Given the description of an element on the screen output the (x, y) to click on. 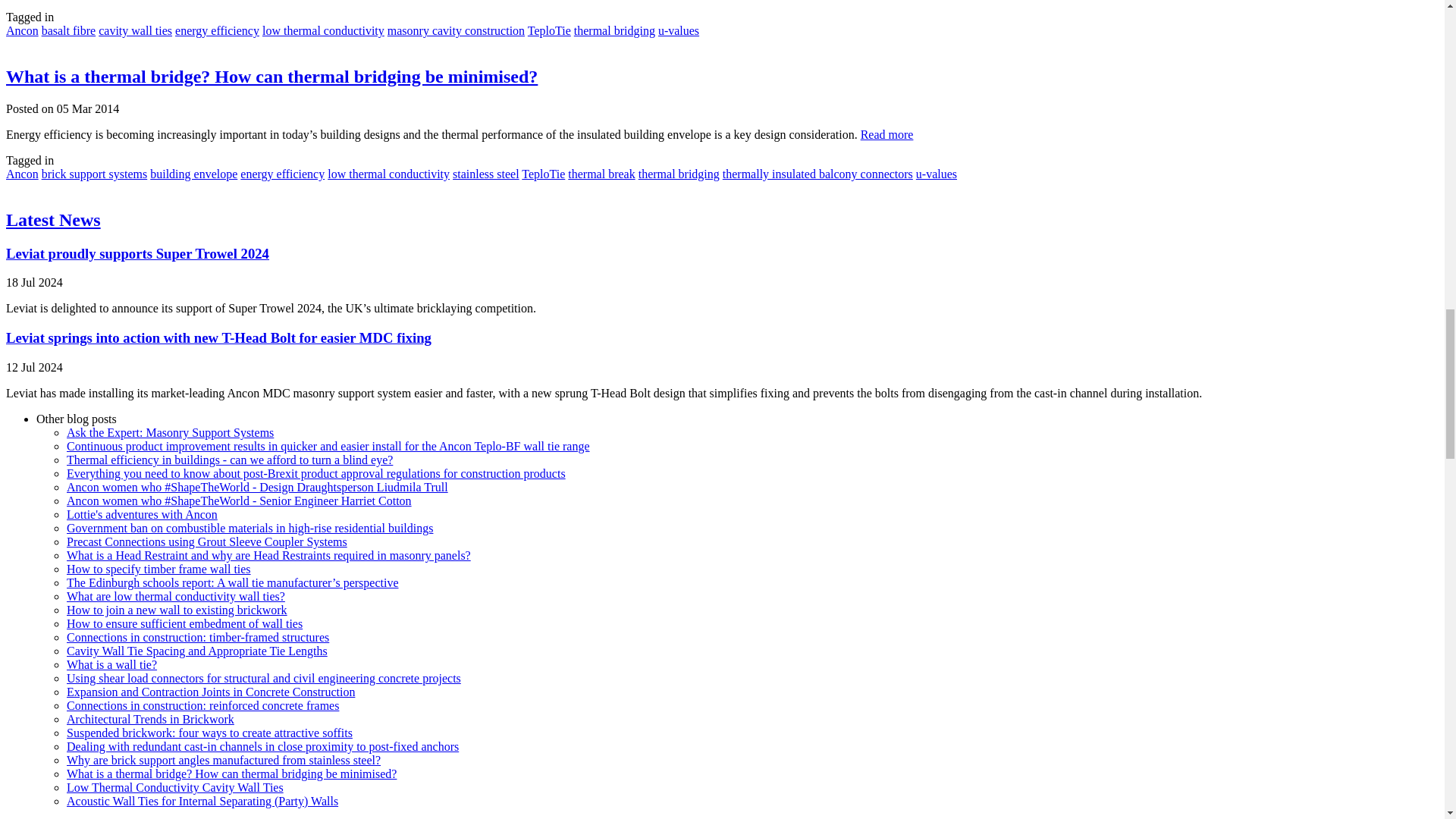
basalt fibre (69, 30)
cavity wall ties (135, 30)
low thermal conductivity (323, 30)
energy efficiency (216, 30)
Ancon (22, 30)
